Given the description of an element on the screen output the (x, y) to click on. 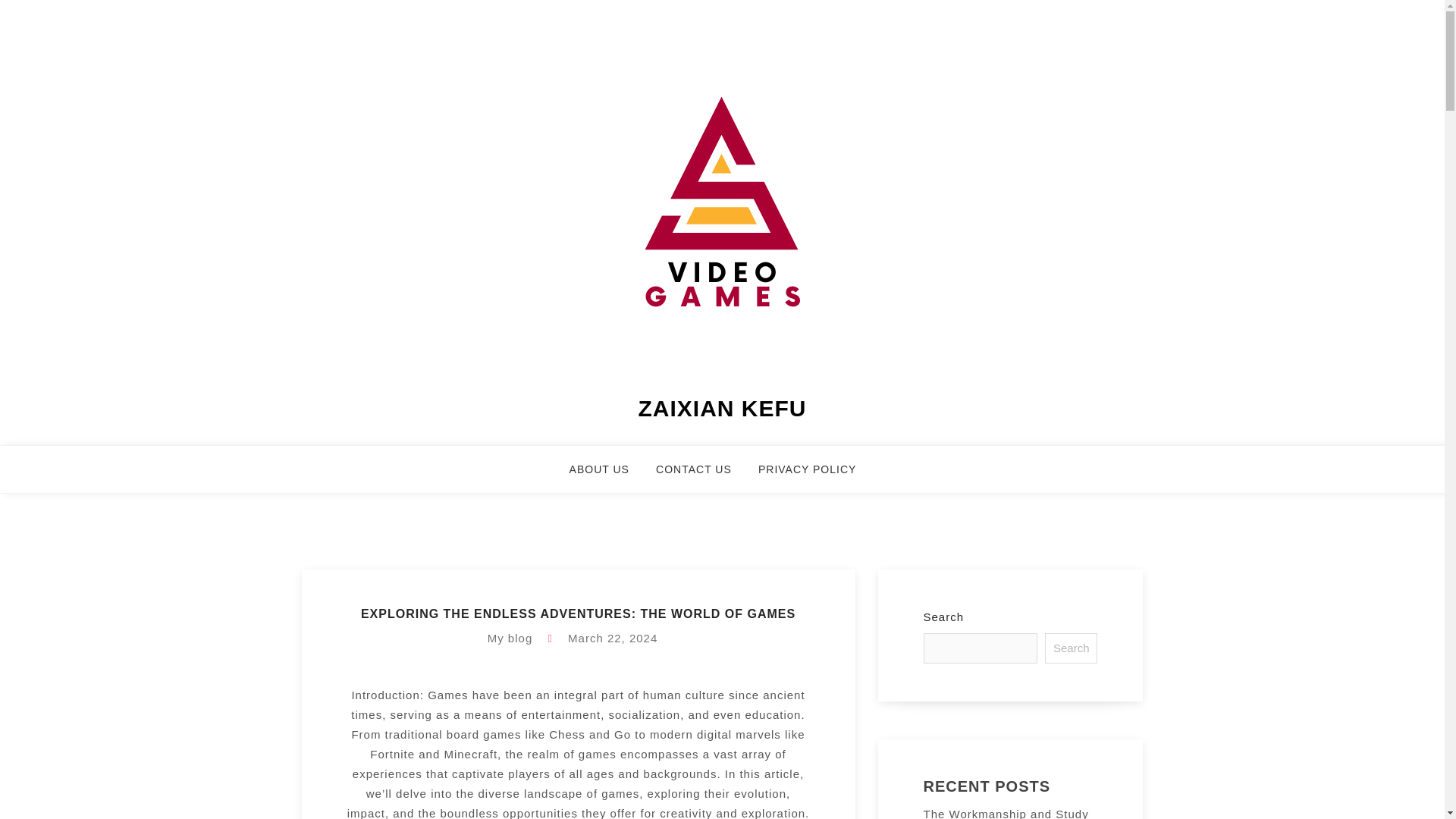
Search (1071, 648)
ABOUT US (608, 476)
PRIVACY POLICY (816, 476)
ZAIXIAN KEFU (722, 407)
CONTACT US (703, 476)
March 22, 2024 (612, 637)
My blog (509, 637)
